Given the description of an element on the screen output the (x, y) to click on. 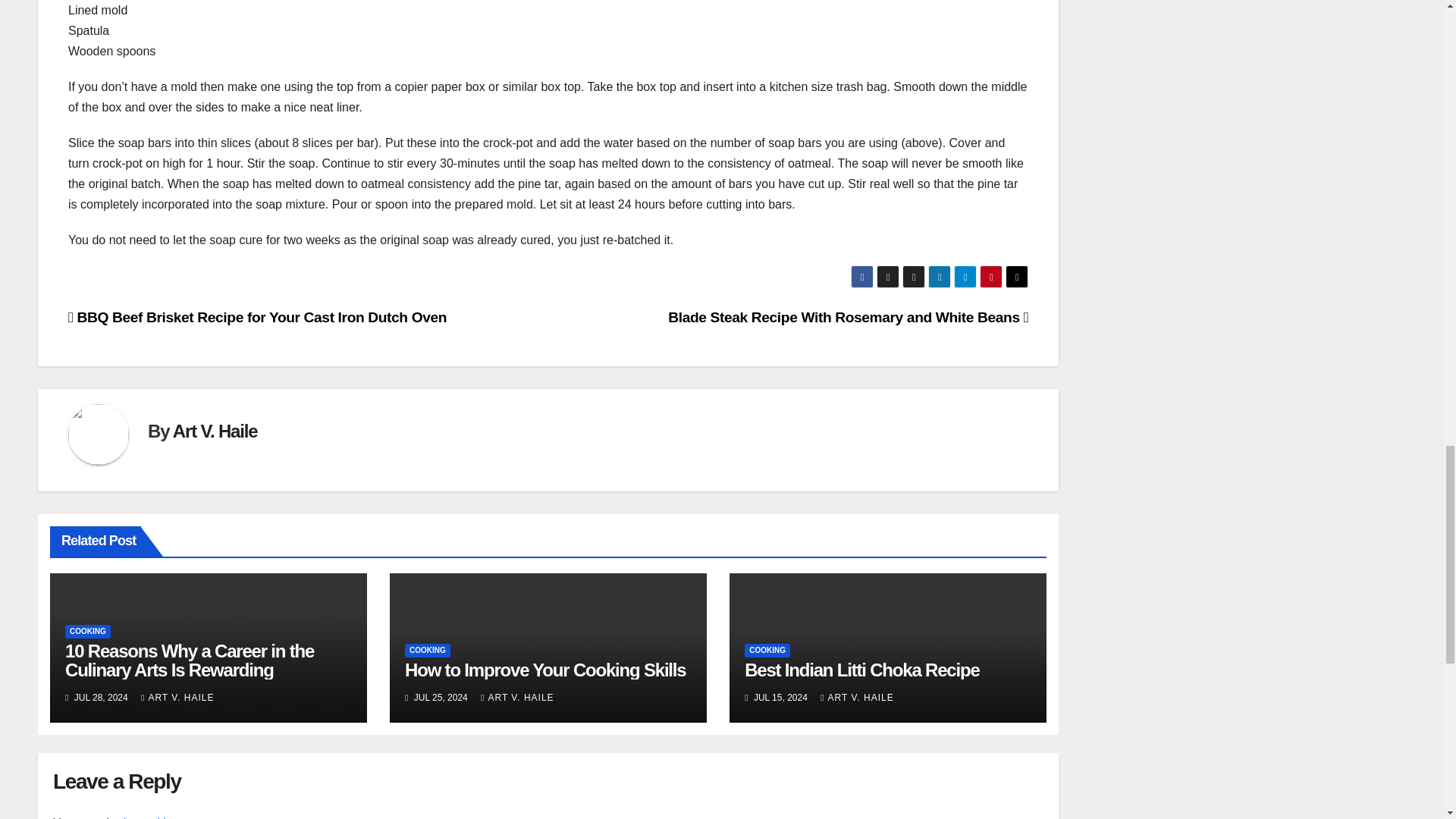
COOKING (87, 631)
10 Reasons Why a Career in the Culinary Arts Is Rewarding (189, 660)
Art V. Haile (215, 430)
BBQ Beef Brisket Recipe for Your Cast Iron Dutch Oven (257, 317)
Permalink to: How to Improve Your Cooking Skills (544, 670)
Blade Steak Recipe With Rosemary and White Beans (847, 317)
